Given the description of an element on the screen output the (x, y) to click on. 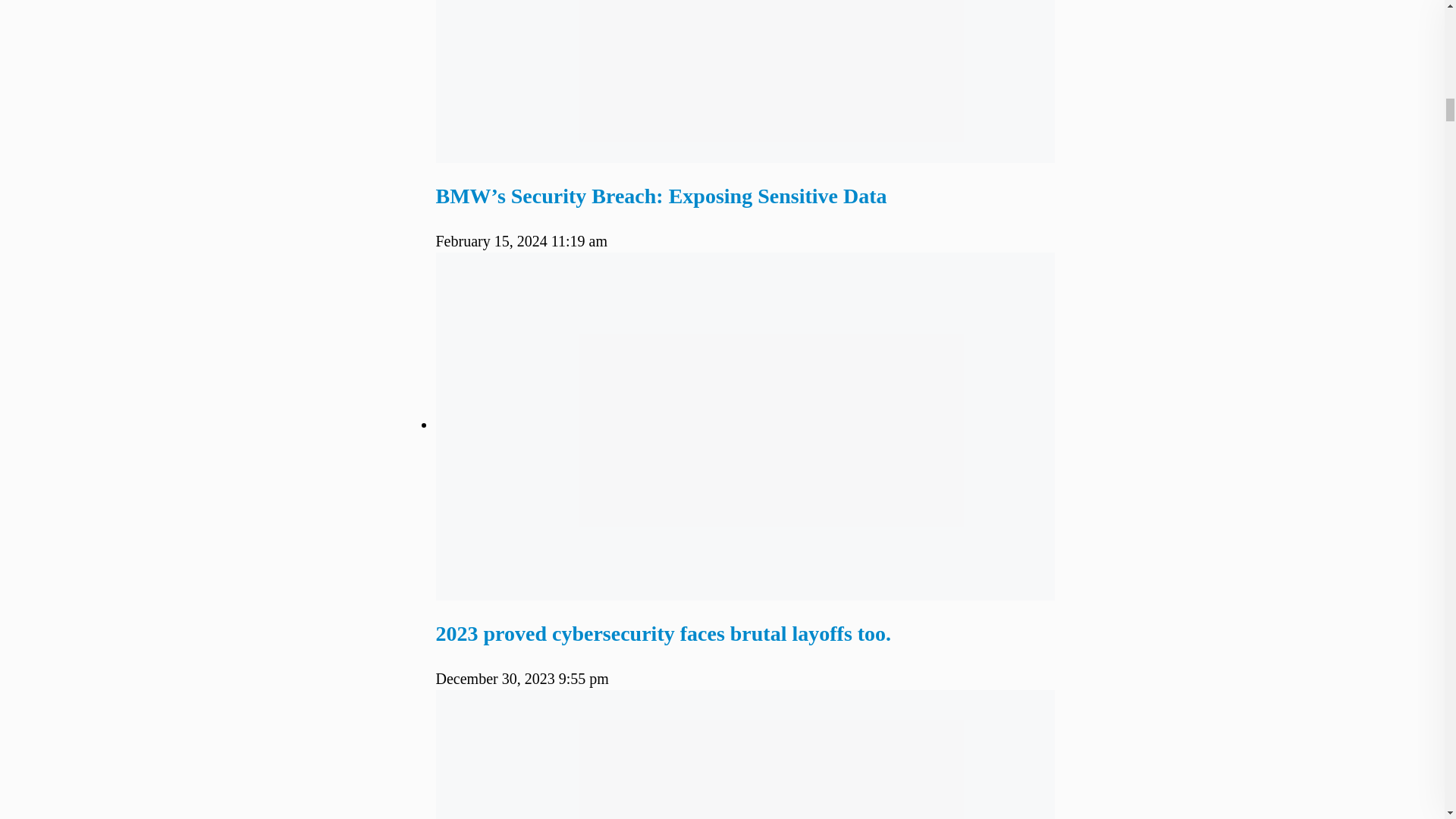
2023 proved cybersecurity faces brutal layoffs too. (663, 633)
